Given the description of an element on the screen output the (x, y) to click on. 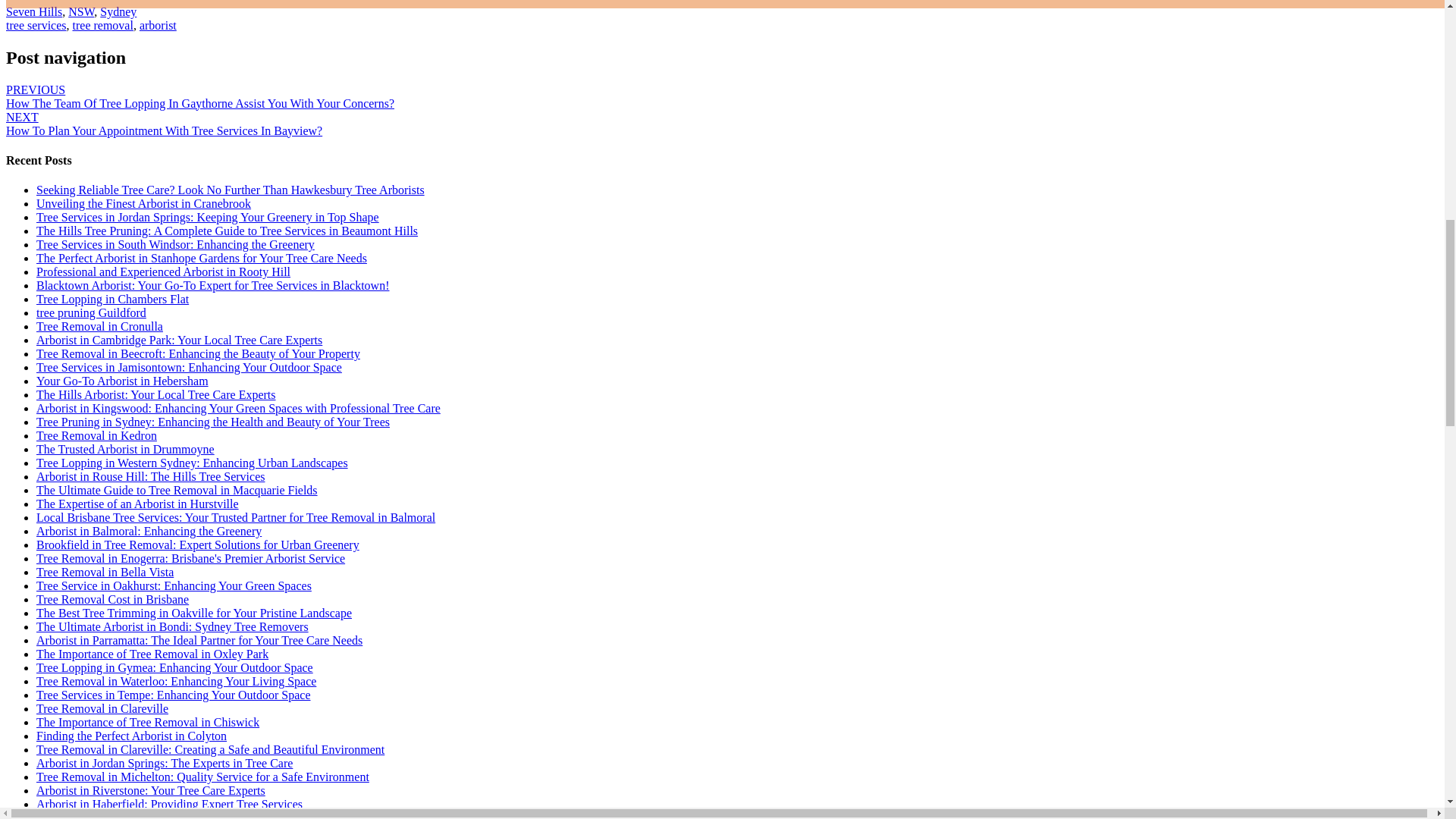
Arborist in Rouse Hill: The Hills Tree Services (150, 476)
Arborist in Cambridge Park: Your Local Tree Care Experts (178, 339)
Seven Hills (33, 11)
Your Go-To Arborist in Hebersham (122, 380)
Tree Removal in Cronulla (99, 326)
The Hills Arborist: Your Local Tree Care Experts (156, 394)
Tree Services in South Windsor: Enhancing the Greenery (175, 244)
Arborist in Balmoral: Enhancing the Greenery (149, 530)
Sydney (118, 11)
Unveiling the Finest Arborist in Cranebrook (143, 203)
